Given the description of an element on the screen output the (x, y) to click on. 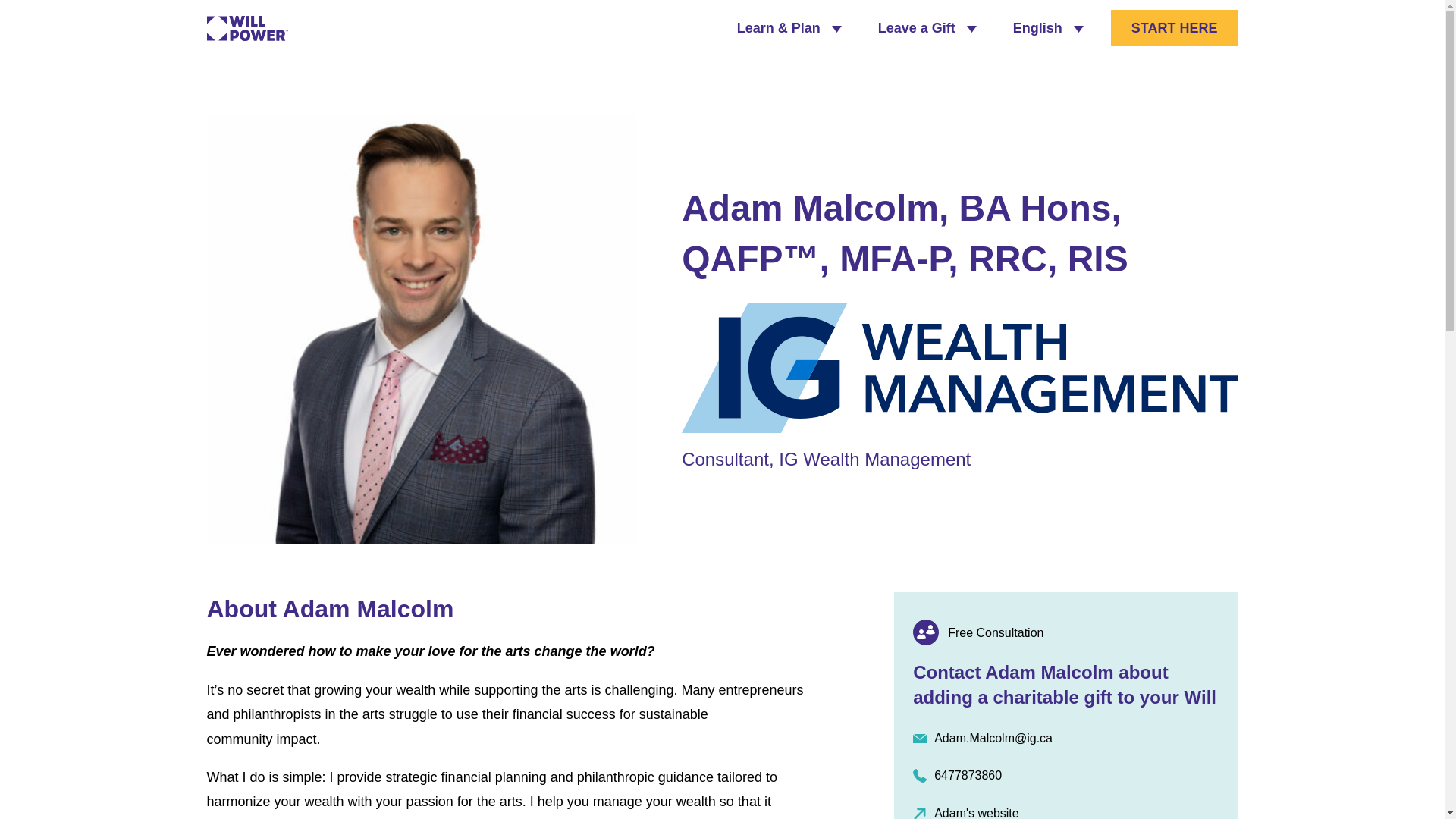
START HERE (1174, 27)
6477873860 (1065, 775)
Leave a Gift (927, 28)
English (1048, 28)
Adam's website (1065, 811)
